Given the description of an element on the screen output the (x, y) to click on. 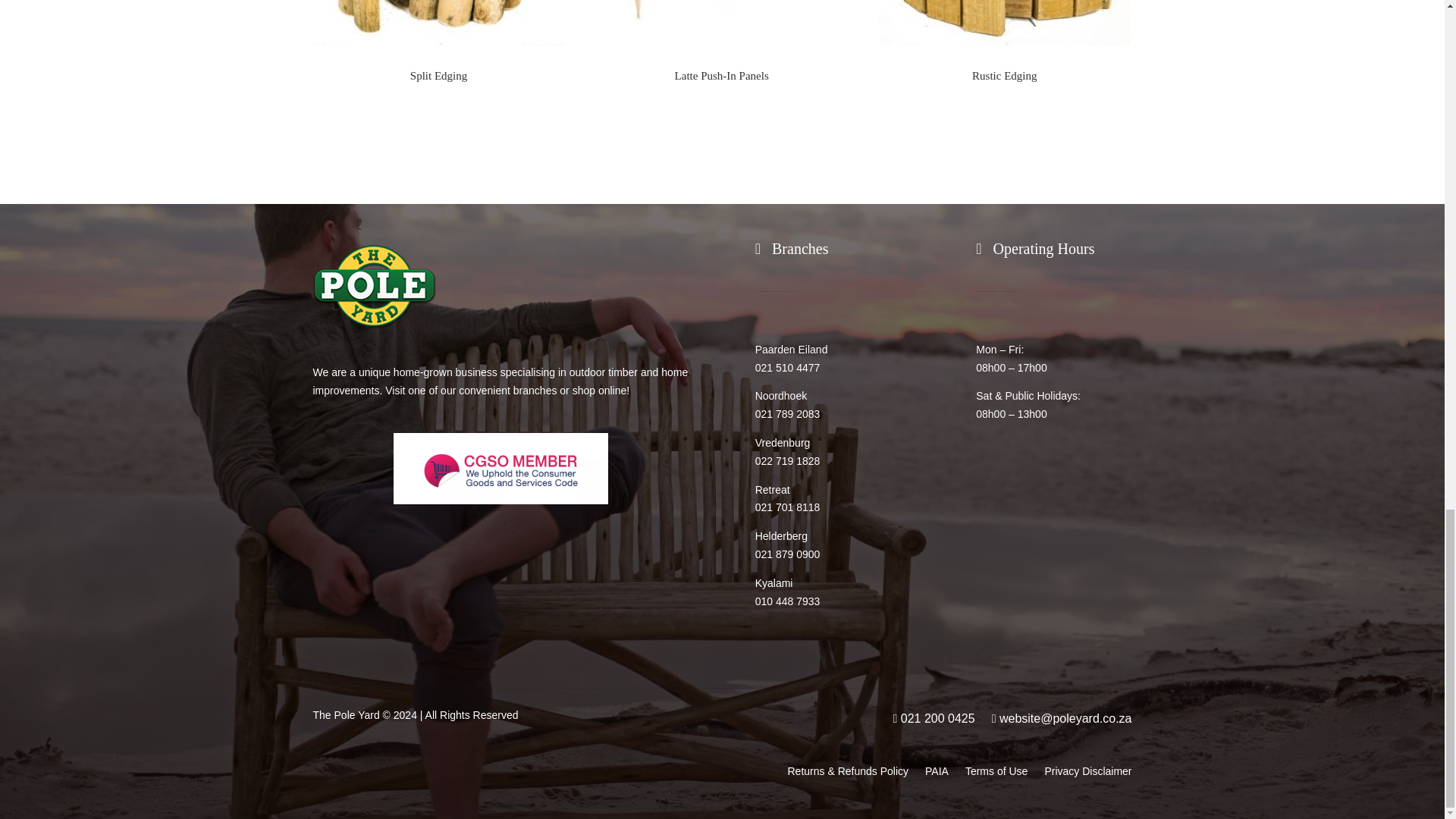
PY-Logo (374, 285)
